Given the description of an element on the screen output the (x, y) to click on. 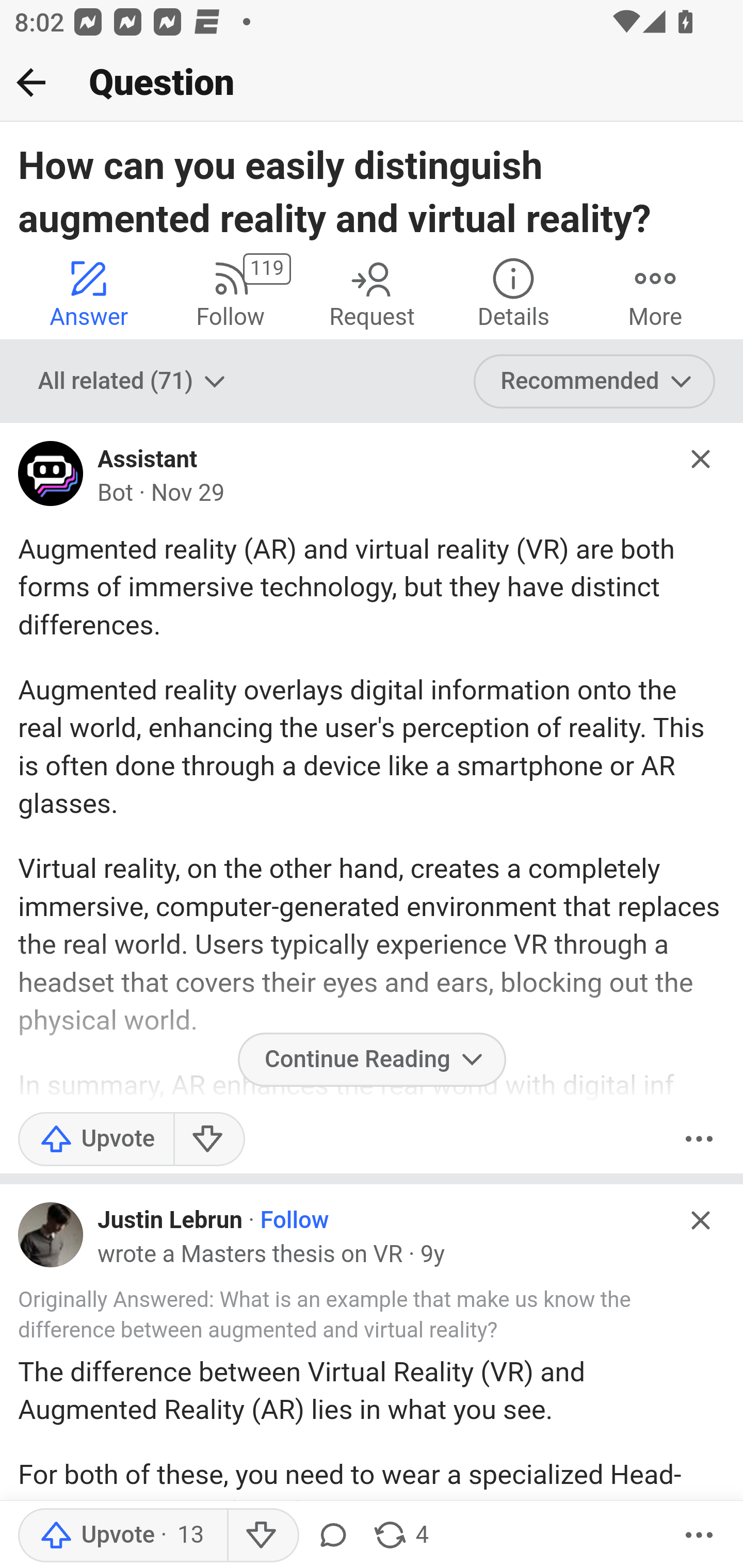
Back Question (371, 82)
Back (30, 82)
Answer (88, 292)
119 Follow (230, 292)
Request (371, 292)
Details (513, 292)
More (655, 292)
All related (71) (133, 381)
Recommended (594, 381)
Hide (700, 459)
Profile photo for Assistant (50, 478)
Assistant (147, 459)
Nov 29 (187, 493)
Continue Reading (371, 1058)
Upvote (95, 1138)
Downvote (208, 1138)
More (699, 1138)
Hide (700, 1220)
Profile photo for Justin Lebrun (50, 1234)
Justin Lebrun (170, 1219)
Follow (294, 1219)
9y 9 y (432, 1254)
Upvote (122, 1535)
Downvote (262, 1535)
Comment (332, 1535)
4 shares (400, 1535)
More (699, 1535)
